Given the description of an element on the screen output the (x, y) to click on. 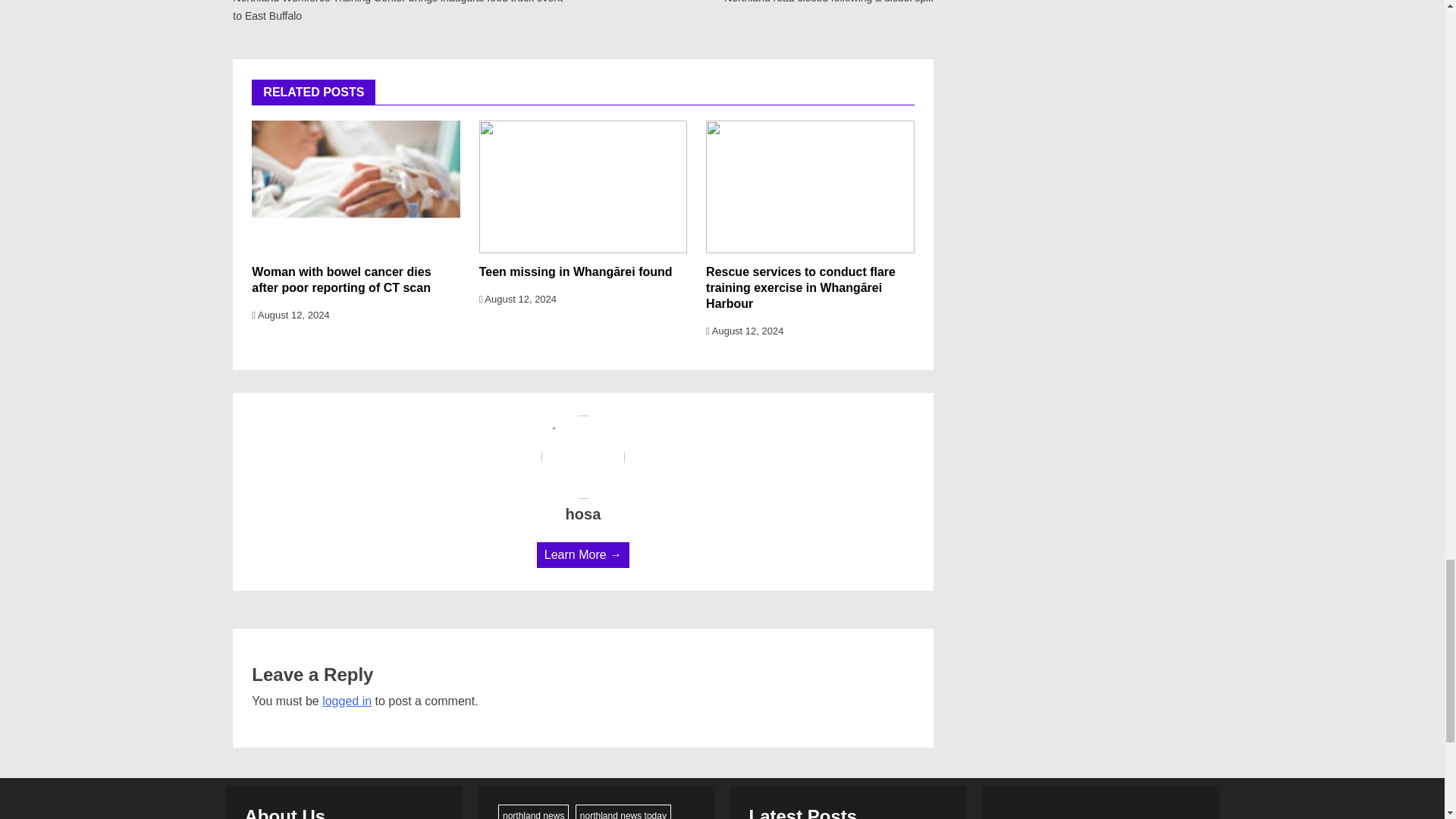
August 12, 2024 (290, 315)
Next: Northland road closed following a diesel spill (809, 3)
Woman with bowel cancer dies after poor reporting of CT scan (340, 279)
